Given the description of an element on the screen output the (x, y) to click on. 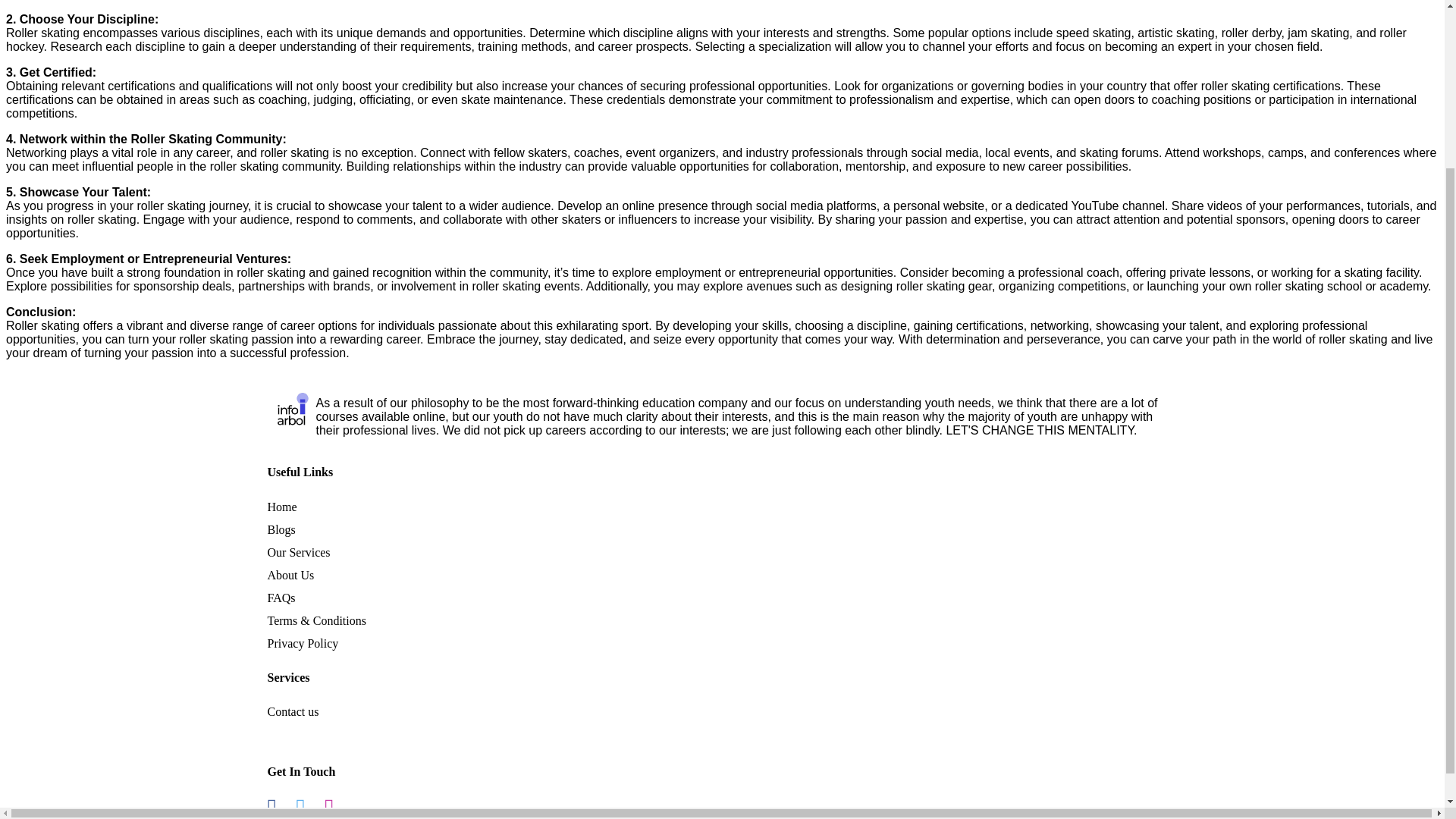
FAQs (280, 597)
Home (281, 506)
About Us (290, 574)
Blogs (280, 529)
Privacy Policy (301, 643)
Our Services (298, 552)
Contact us (292, 711)
